Given the description of an element on the screen output the (x, y) to click on. 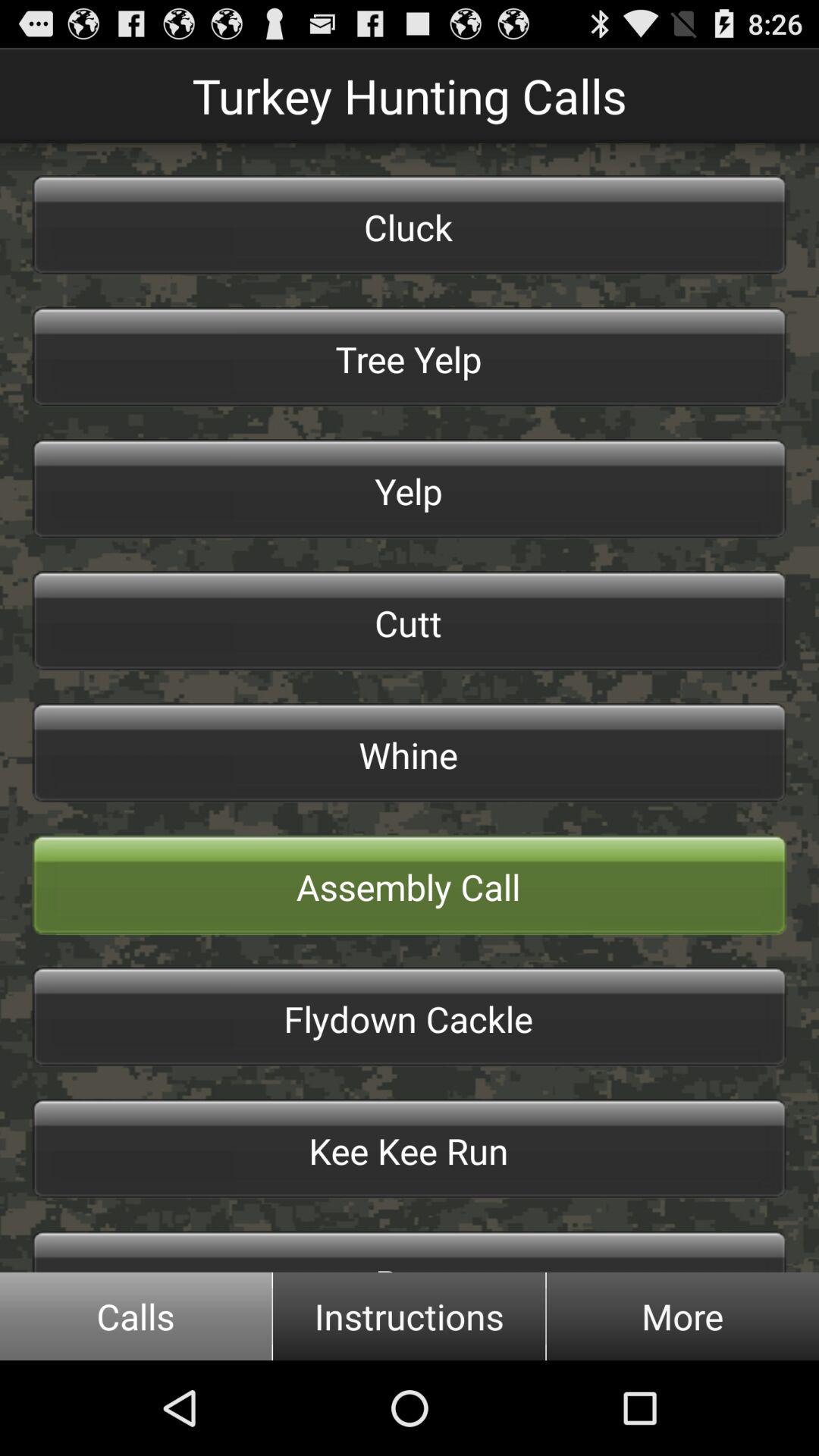
choose button below the cluck button (409, 357)
